Given the description of an element on the screen output the (x, y) to click on. 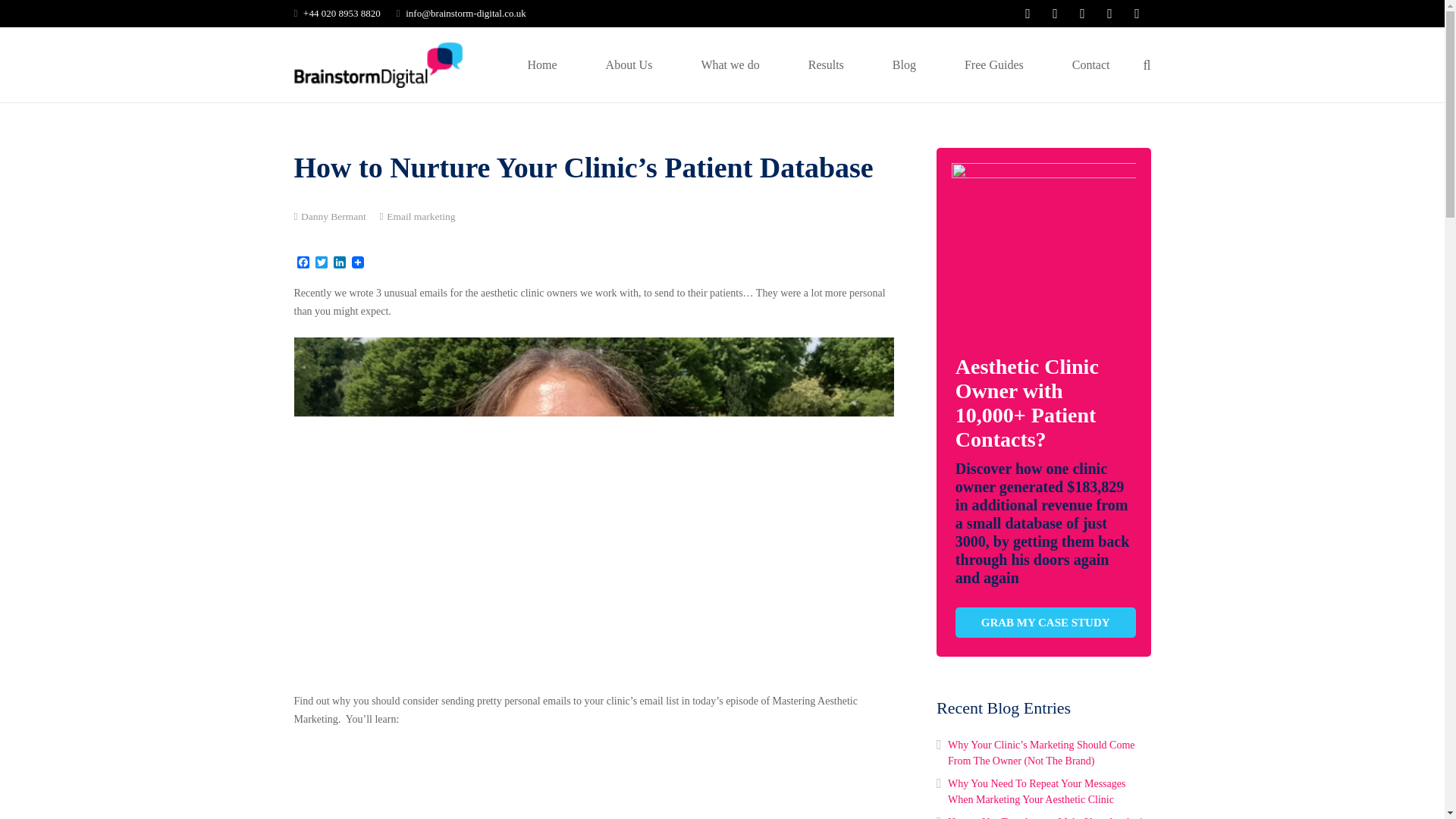
What we do (730, 64)
Contact (1091, 64)
LinkedIn (339, 263)
Home (541, 64)
Twitter (321, 263)
YouTube video player (506, 782)
Facebook (303, 263)
Free Guides (994, 64)
About Us (628, 64)
Email marketing (420, 215)
